Given the description of an element on the screen output the (x, y) to click on. 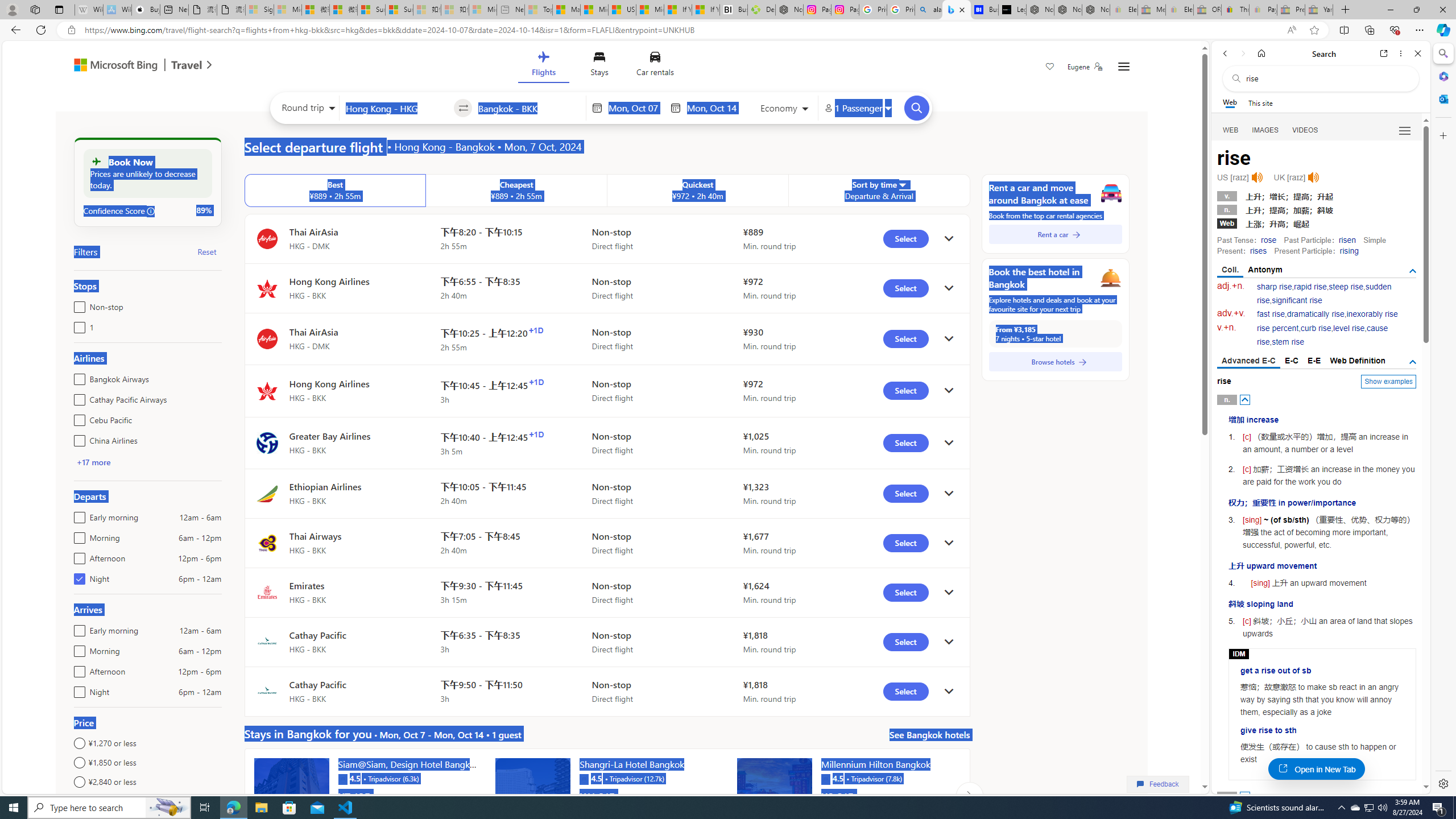
Early morning12am - 6am (76, 628)
Web Definition (1357, 360)
Click to listen (1313, 177)
rise percent (1277, 328)
Class: trvl-hub-header nofilter (601, 65)
Microsoft Bing Travel (130, 65)
